Given the description of an element on the screen output the (x, y) to click on. 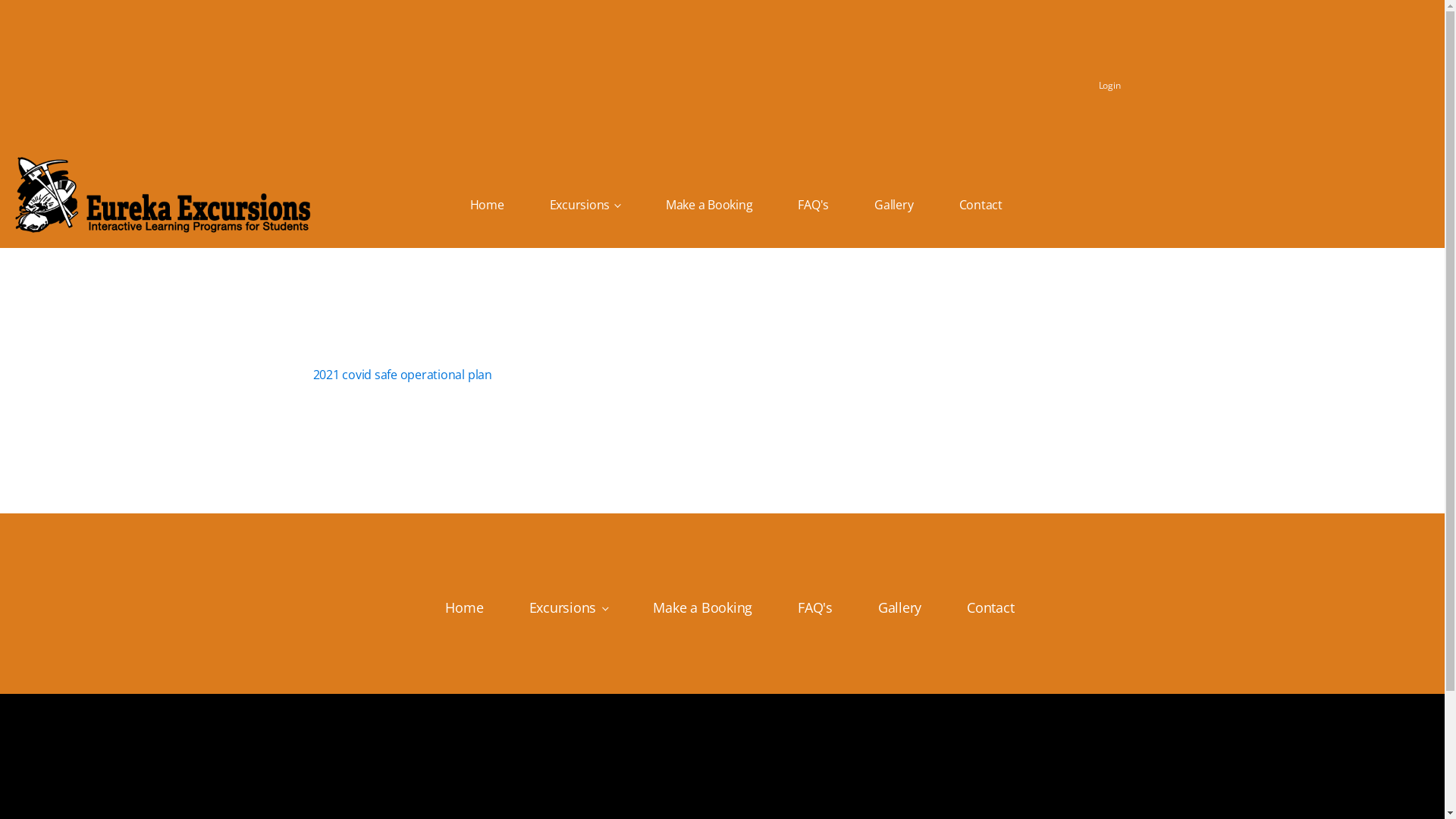
Home Element type: text (463, 607)
Home Element type: text (487, 204)
Excursions Element type: text (584, 204)
FAQ's Element type: text (814, 607)
Contact Element type: text (990, 607)
FAQ's Element type: text (813, 204)
Gallery Element type: text (899, 607)
Login Element type: text (1109, 81)
Excursions Element type: text (568, 607)
Make a Booking Element type: text (709, 204)
Gallery Element type: text (893, 204)
Contact Element type: text (980, 204)
2021 covid safe operational plan Element type: text (401, 374)
Make a Booking Element type: text (702, 607)
